Given the description of an element on the screen output the (x, y) to click on. 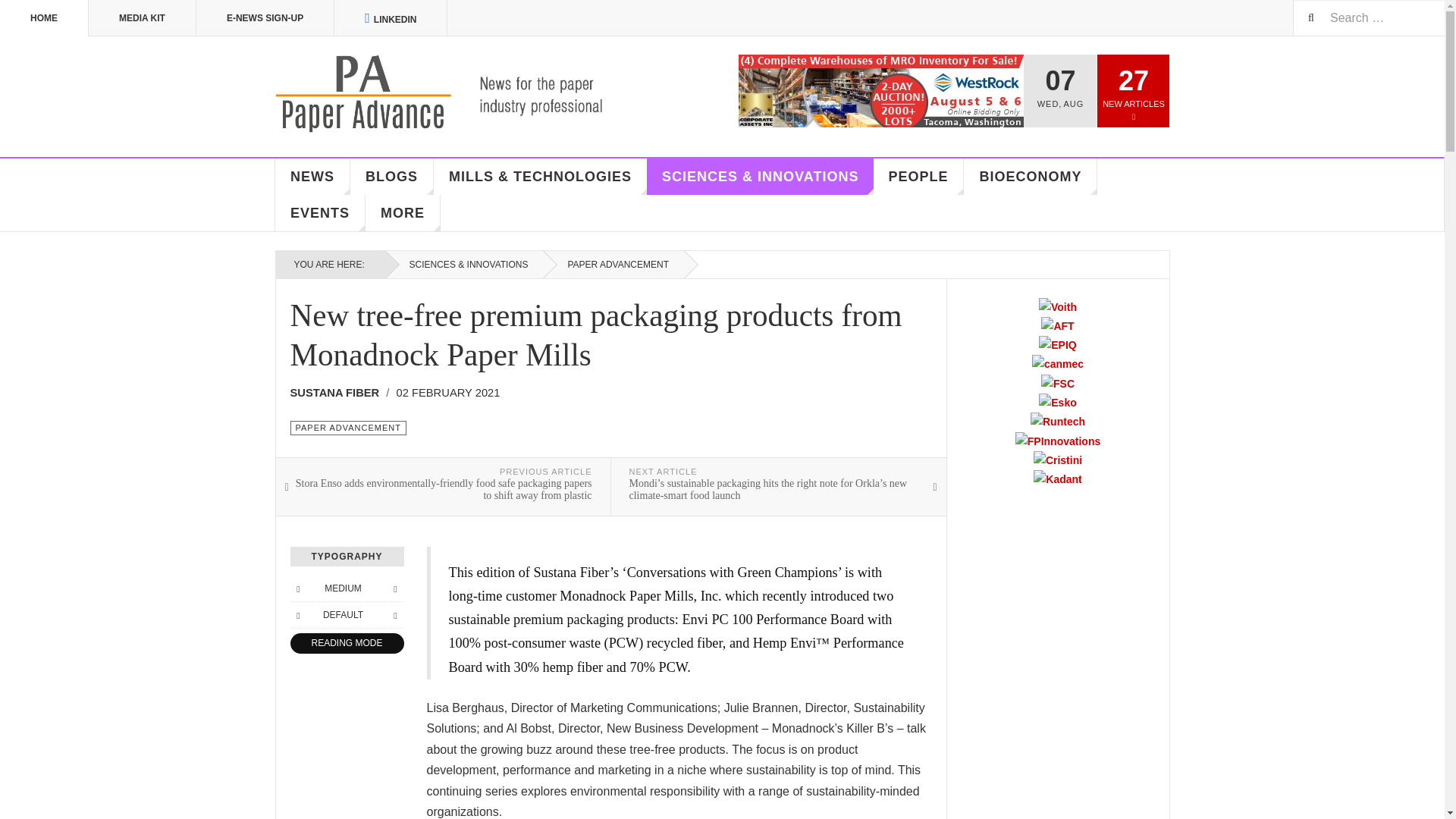
Paper Advance (461, 93)
MEDIA KIT (142, 18)
LINKEDIN (390, 18)
HOME (44, 18)
NEWS (312, 176)
E-NEWS SIGN-UP (265, 18)
